Given the description of an element on the screen output the (x, y) to click on. 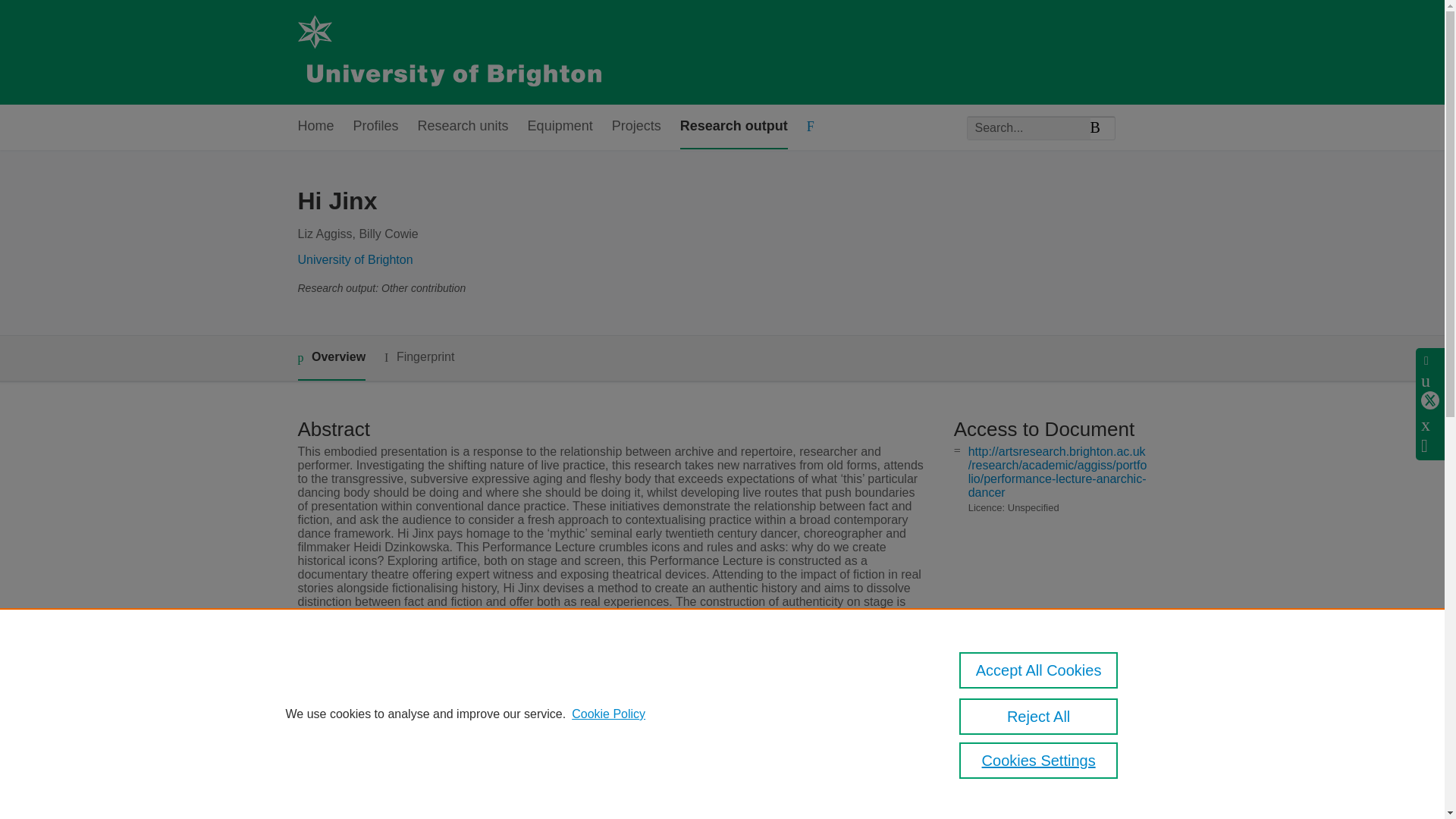
Research units (462, 126)
University of Brighton (354, 259)
Equipment (559, 126)
The University of Brighton Home (448, 52)
Liz Aggiss; Billy Cowie (570, 684)
Profiles (375, 126)
Overview (331, 357)
Projects (636, 126)
Fingerprint (419, 357)
